Given the description of an element on the screen output the (x, y) to click on. 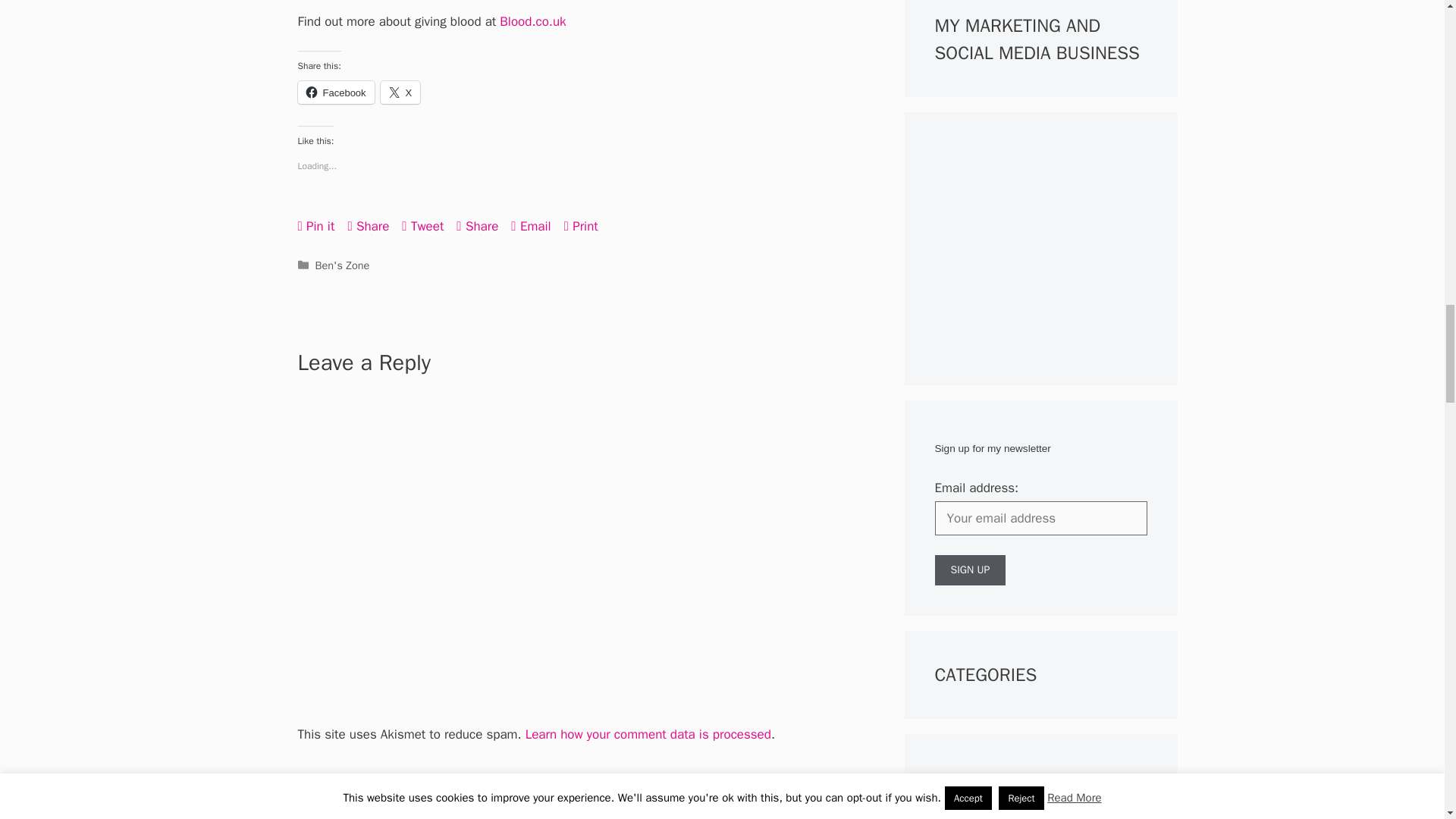
Pin it (315, 226)
Ben's Zone (342, 264)
Sign up (970, 570)
Print (581, 226)
Tweet (422, 226)
Share (477, 226)
X (400, 92)
Facebook (335, 92)
Share by Email (530, 226)
Share (367, 226)
